Given the description of an element on the screen output the (x, y) to click on. 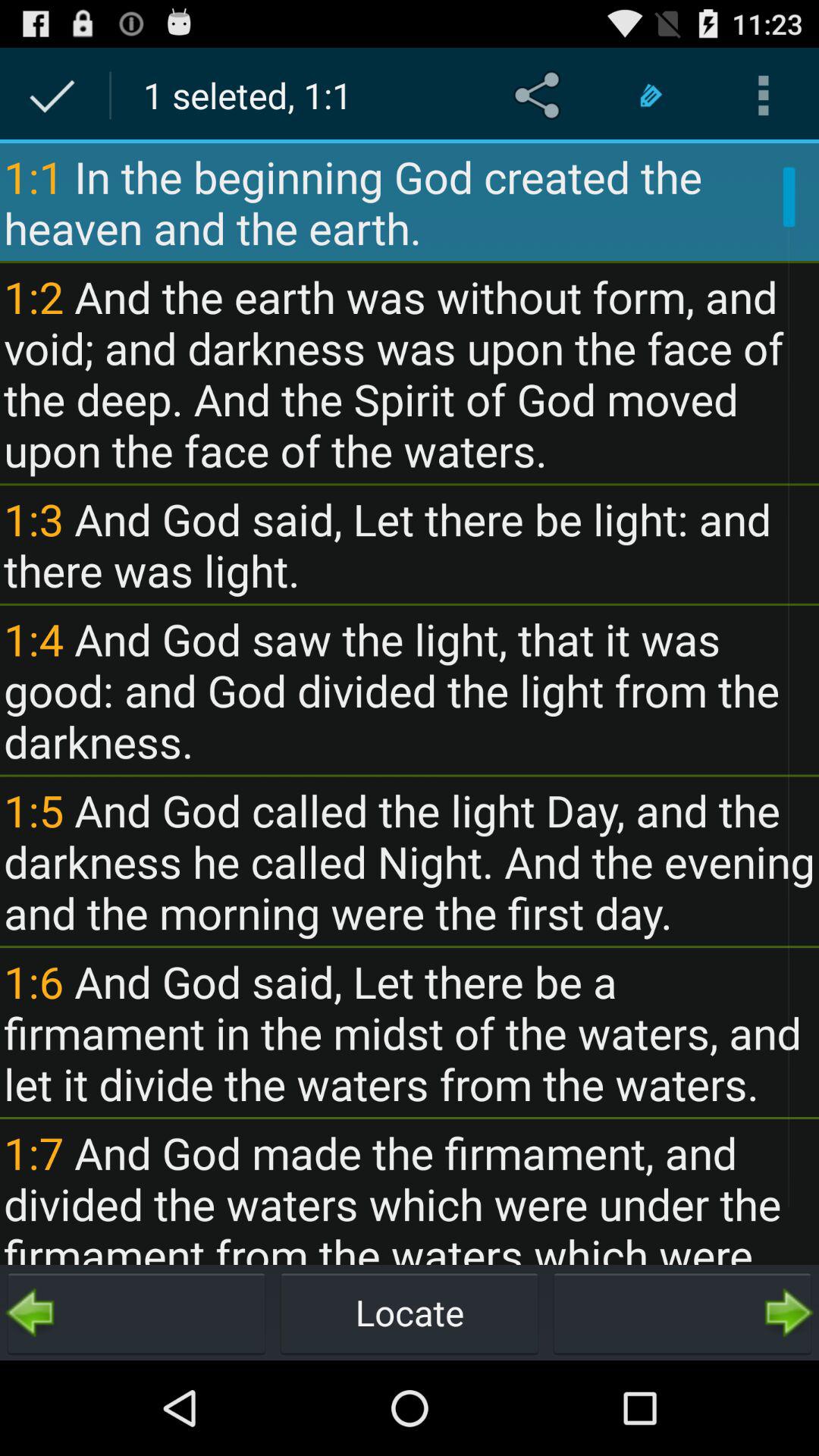
turn on the item below 1 7 and app (682, 1312)
